Given the description of an element on the screen output the (x, y) to click on. 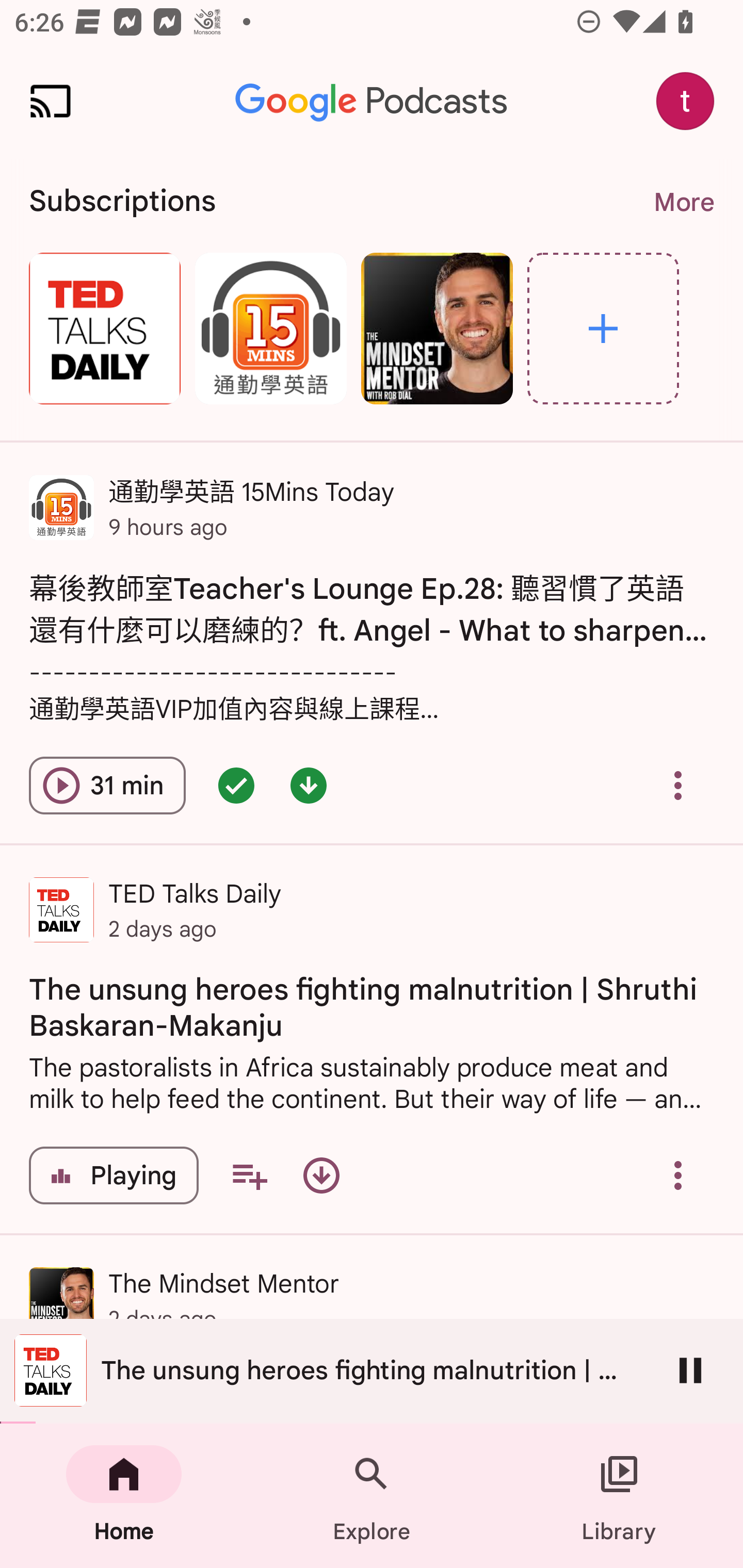
Cast. Disconnected (50, 101)
More More. Navigate to subscriptions page. (683, 202)
TED Talks Daily (104, 328)
通勤學英語 15Mins Today (270, 328)
The Mindset Mentor (436, 328)
Explore (603, 328)
Episode queued - double tap for options (235, 785)
Episode downloaded - double tap for options (308, 785)
Overflow menu (677, 785)
Add to your queue (249, 1175)
Download episode (321, 1175)
Overflow menu (677, 1175)
Pause (690, 1370)
Explore (371, 1495)
Library (619, 1495)
